Given the description of an element on the screen output the (x, y) to click on. 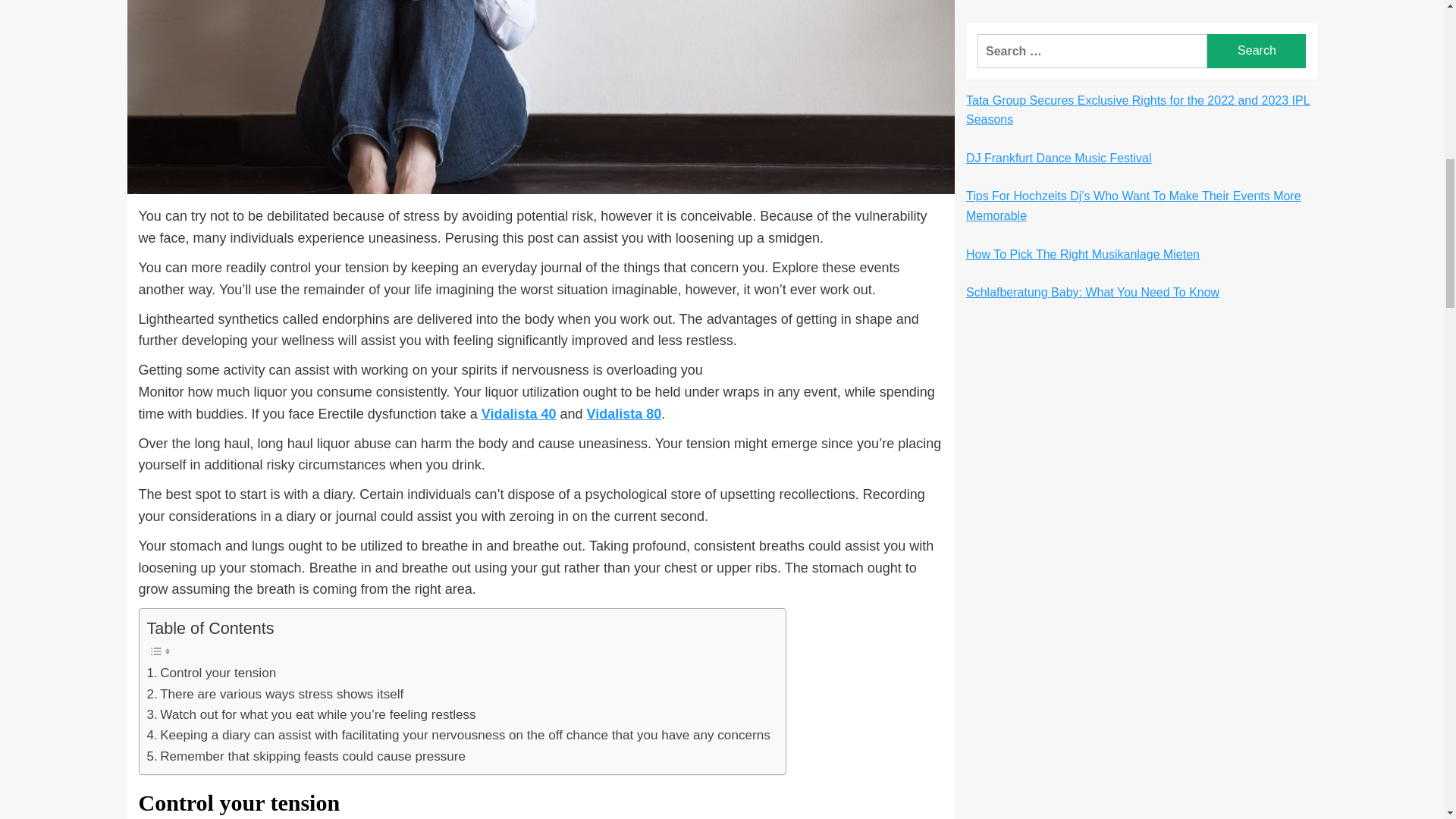
There are various ways stress shows itself (275, 693)
Remember that skipping feasts could cause pressure (306, 756)
There are various ways stress shows itself (275, 693)
Remember that skipping feasts could cause pressure (306, 756)
Control your tension (211, 672)
Vidalista 80 (624, 413)
Vidalista 40 (518, 413)
Control your tension (211, 672)
